Given the description of an element on the screen output the (x, y) to click on. 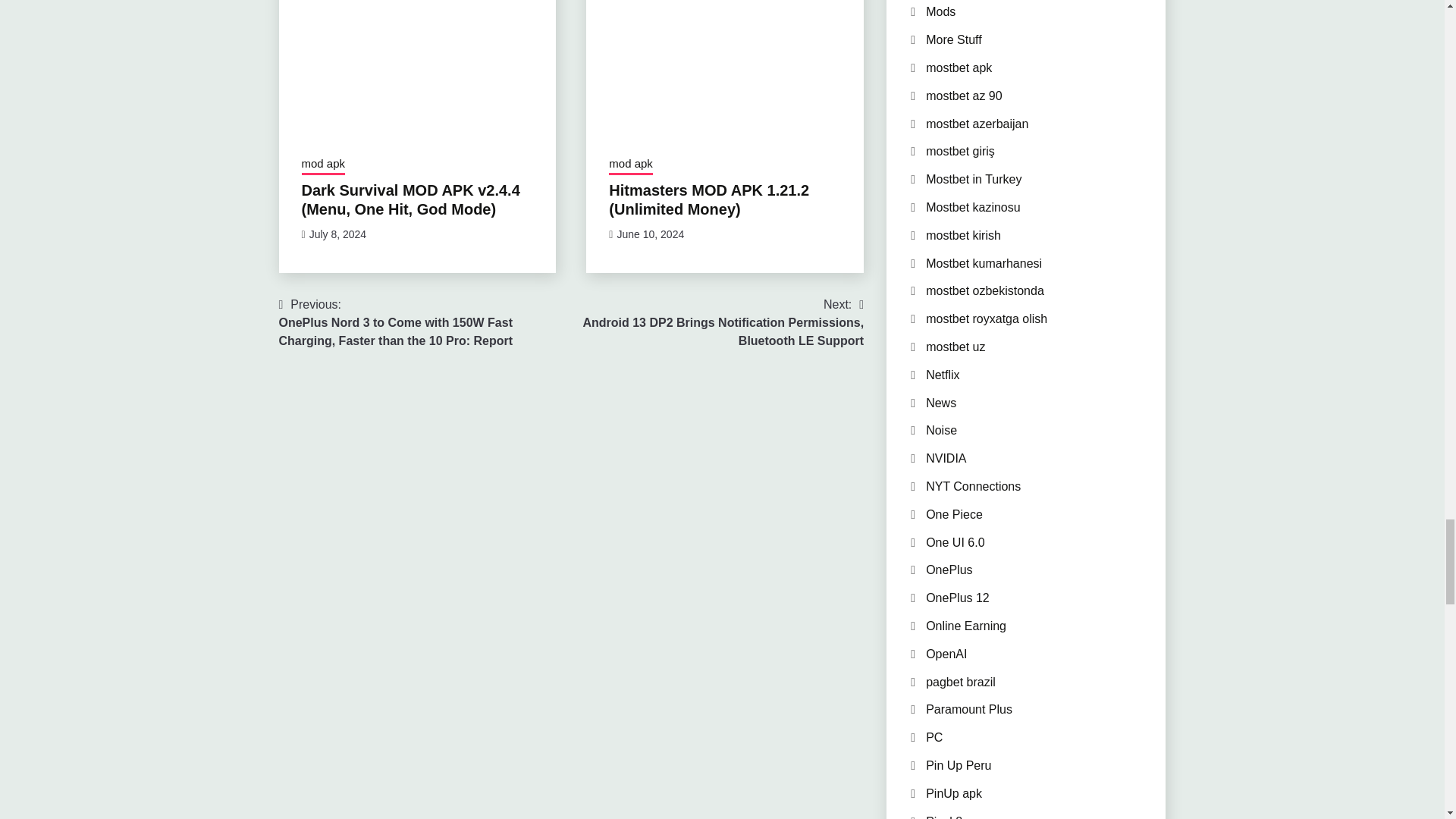
July 8, 2024 (337, 234)
mod apk (323, 165)
